Given the description of an element on the screen output the (x, y) to click on. 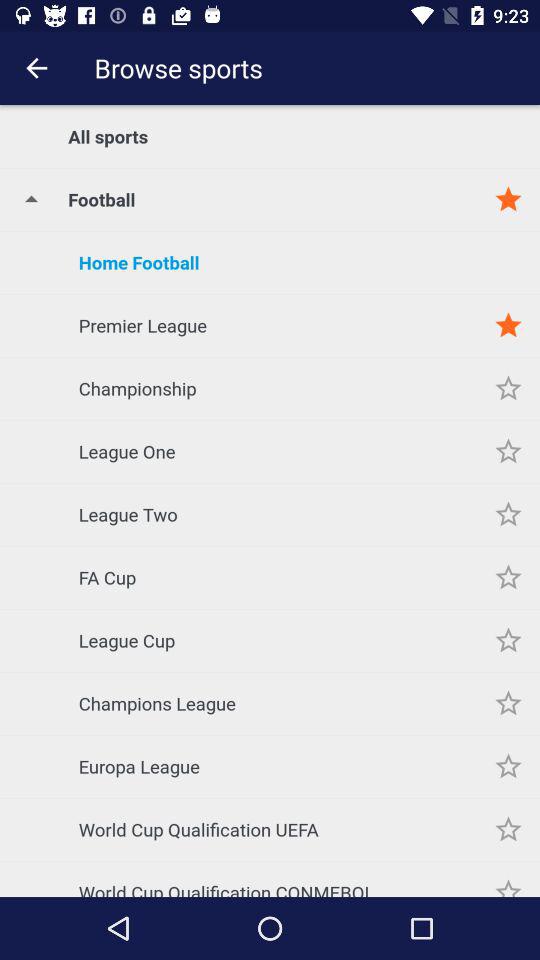
select for news articles to show in feed (508, 451)
